Given the description of an element on the screen output the (x, y) to click on. 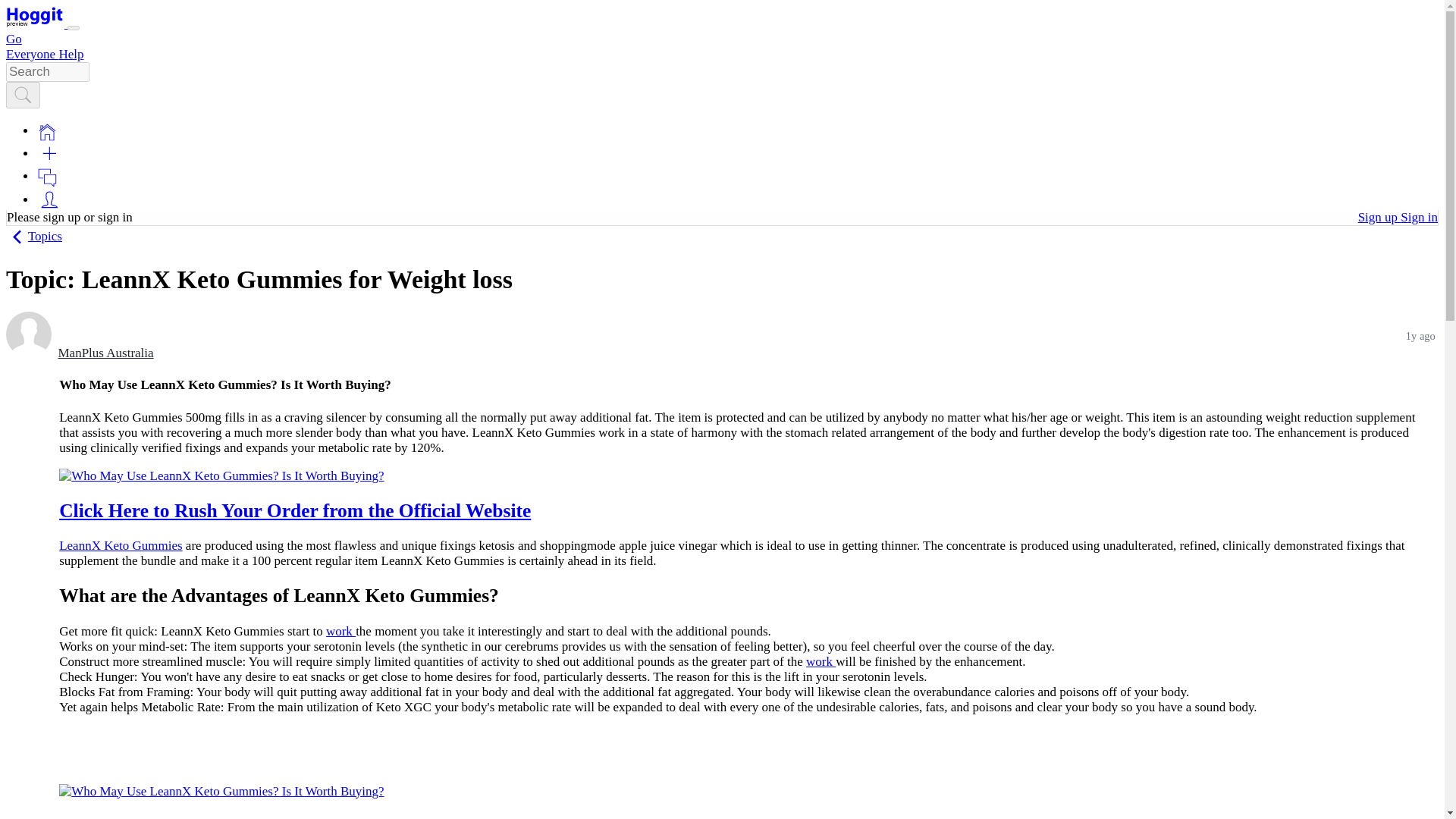
Search (22, 95)
Go (13, 38)
Home (47, 132)
Add (49, 153)
LeannX Keto Gummies (120, 545)
work  (340, 630)
Click Here to Rush Your Order from the Official Website (295, 510)
Sign up (1379, 216)
Notifications (47, 177)
Search (22, 94)
My Hoggit (49, 199)
Back (16, 237)
Hoggit home page (34, 16)
Home (47, 130)
work  (820, 660)
